Given the description of an element on the screen output the (x, y) to click on. 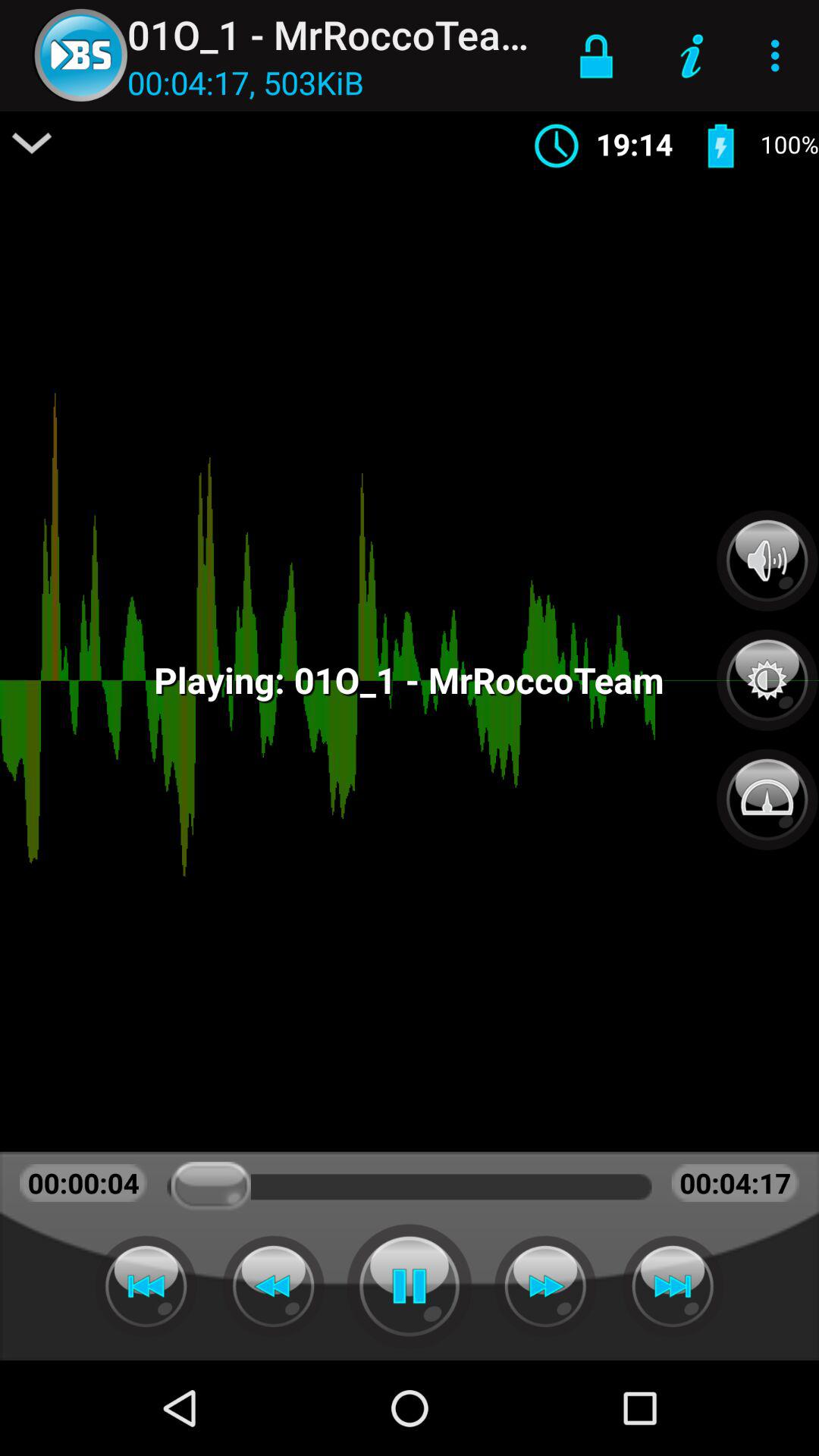
go to britenes (767, 671)
